Given the description of an element on the screen output the (x, y) to click on. 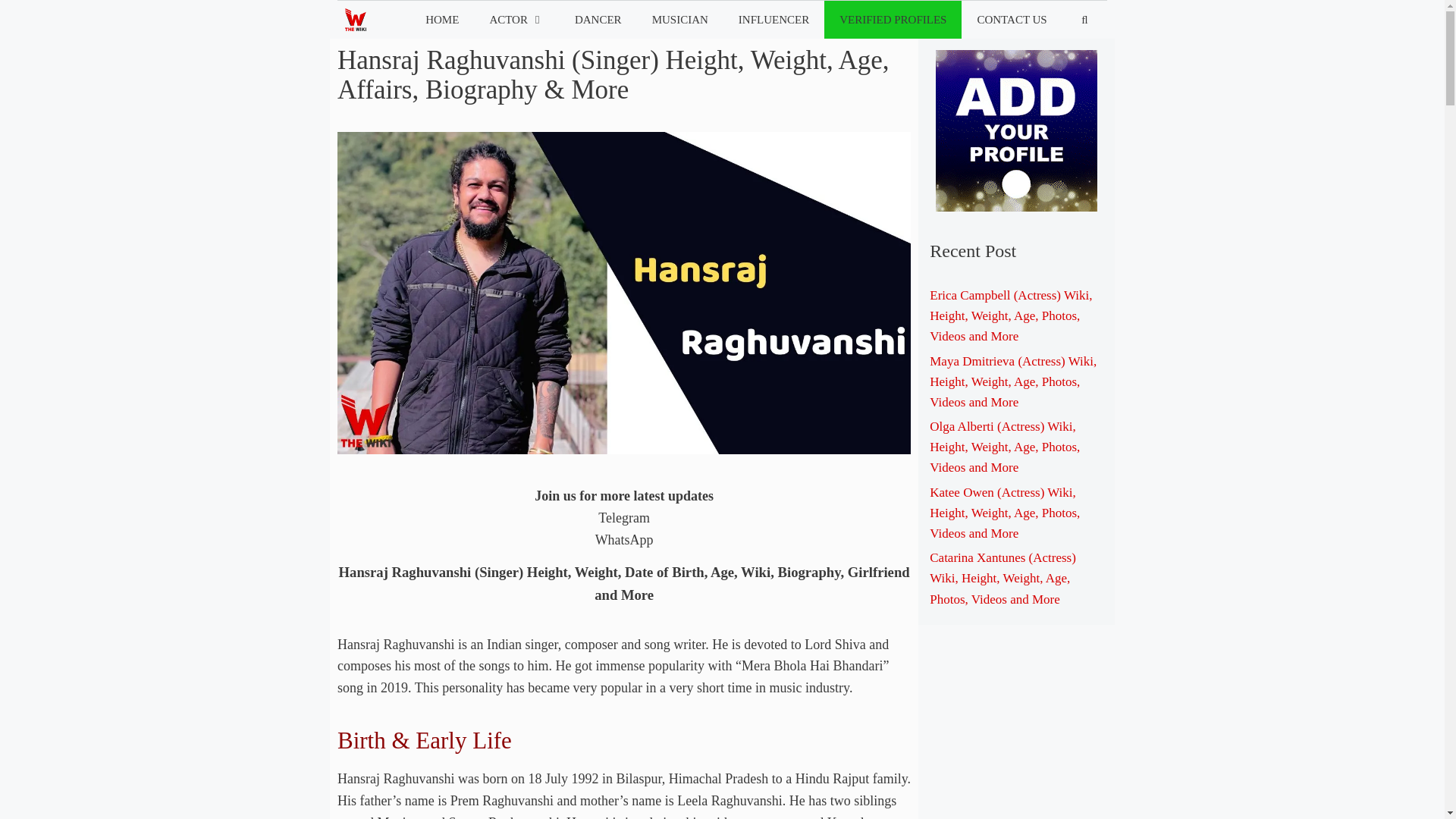
HOME (442, 19)
DANCER (598, 19)
VERIFIED PROFILES (892, 19)
CONTACT US (1010, 19)
INFLUENCER (773, 19)
MUSICIAN (680, 19)
ACTOR (516, 19)
